Given the description of an element on the screen output the (x, y) to click on. 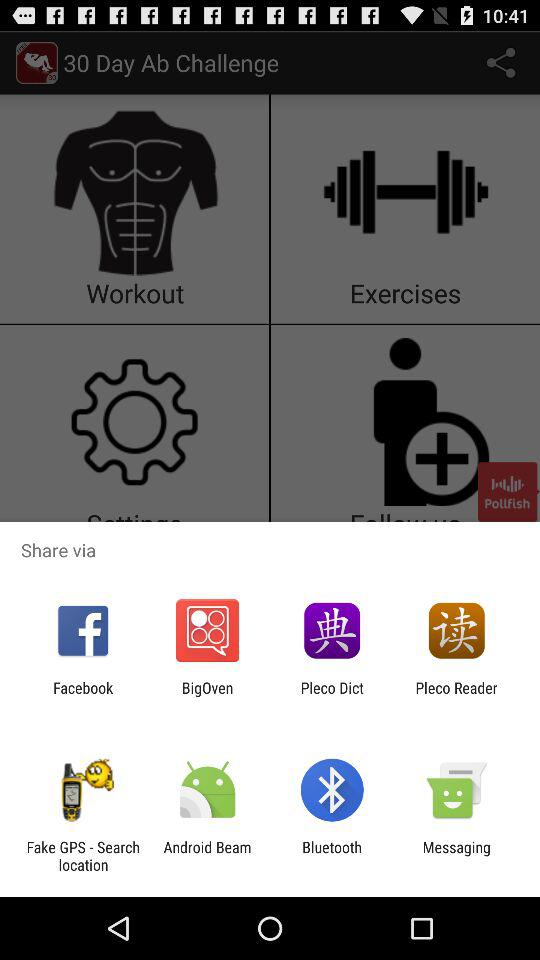
click item next to android beam item (83, 856)
